Given the description of an element on the screen output the (x, y) to click on. 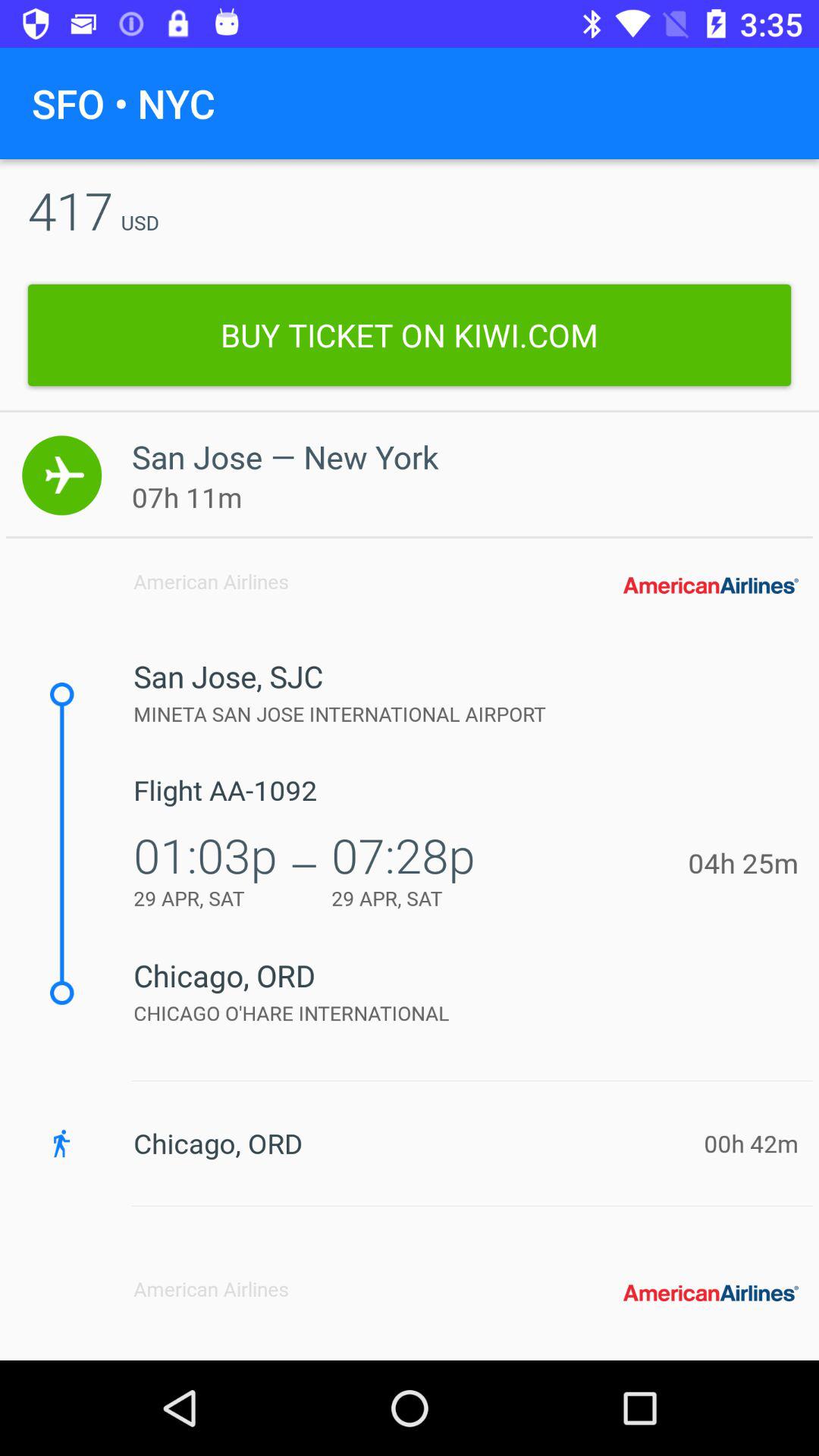
select icon below the 417 icon (409, 335)
